Given the description of an element on the screen output the (x, y) to click on. 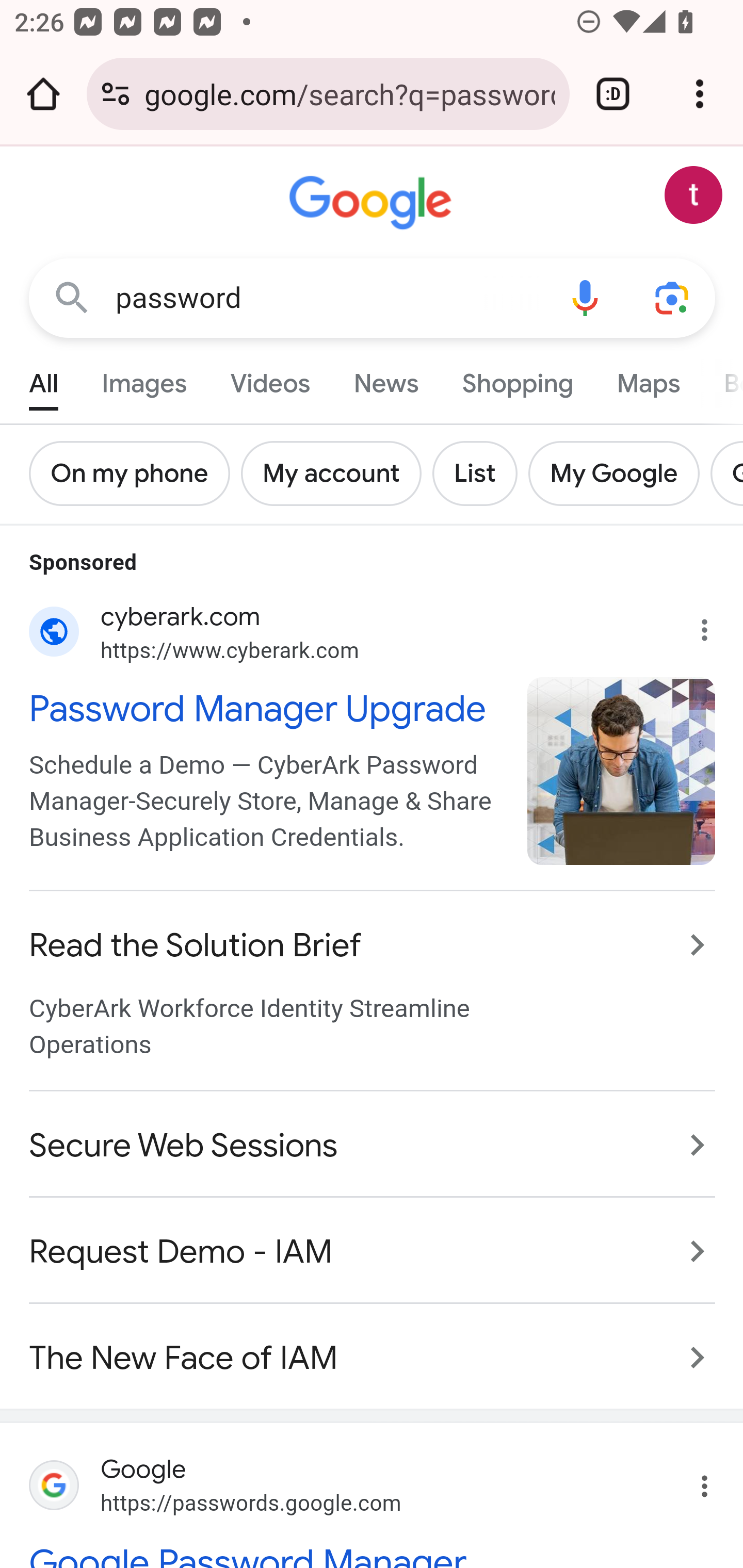
Open the home page (43, 93)
Connection is secure (115, 93)
Switch or close tabs (612, 93)
Customize and control Google Chrome (699, 93)
Google (372, 203)
Google Search (71, 296)
Search using your camera or photos (672, 296)
password (328, 297)
Images (144, 378)
Videos (270, 378)
News (385, 378)
Shopping (516, 378)
Maps (647, 378)
Add On my phone On my phone (135, 473)
Add My account My account (336, 473)
Add List List (480, 473)
Add My Google My Google (619, 473)
Why this ad? (714, 625)
Image from cyberark.com (621, 771)
Password Manager Upgrade (266, 707)
Secure Web Sessions (372, 1144)
Request Demo - IAM (372, 1250)
The New Face of IAM (372, 1347)
